Given the description of an element on the screen output the (x, y) to click on. 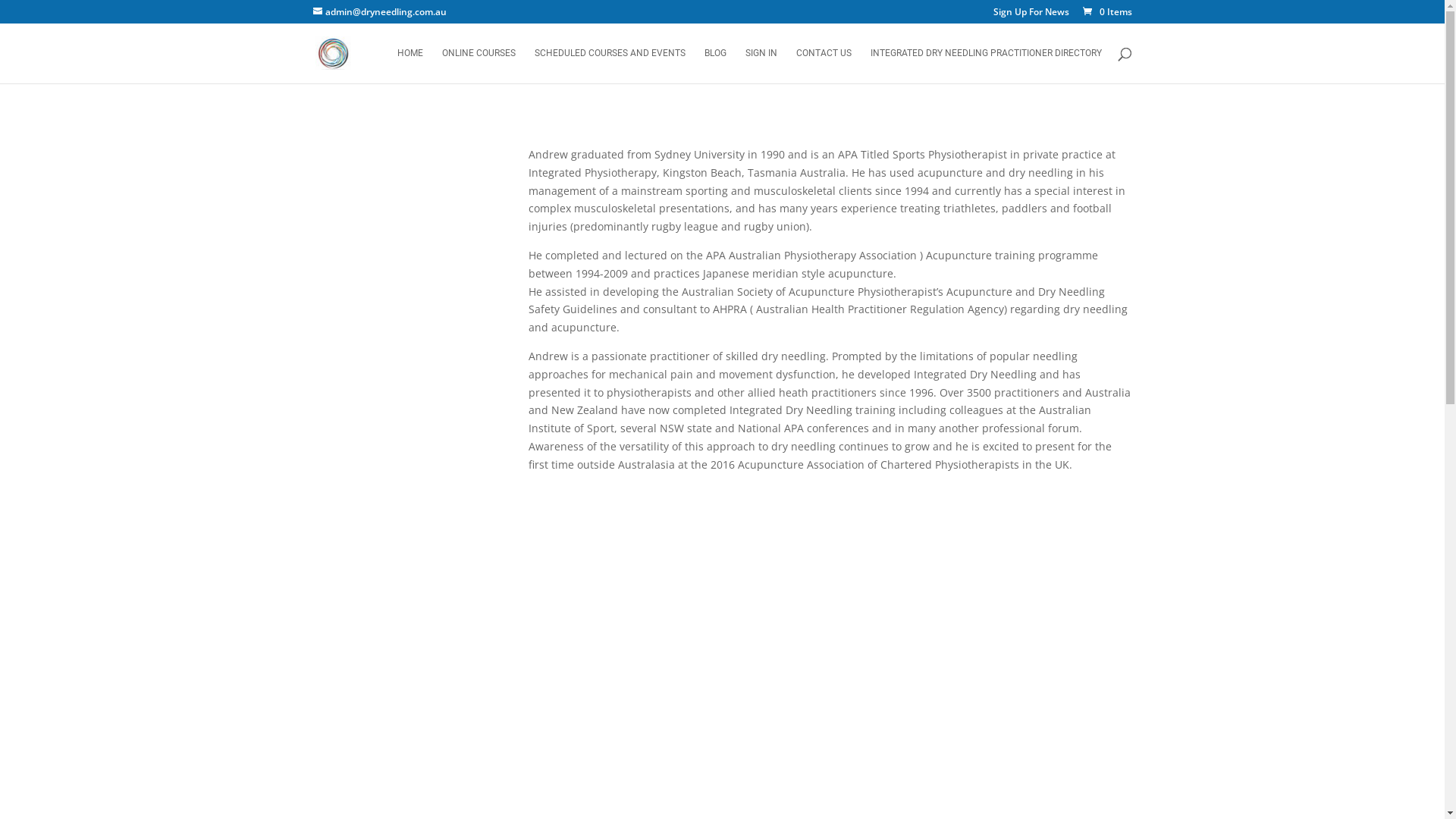
SCHEDULED COURSES AND EVENTS Element type: text (608, 65)
0 Items Element type: text (1105, 11)
Sign Up For News Element type: text (1031, 15)
CONTACT US Element type: text (823, 65)
BLOG Element type: text (714, 65)
SIGN IN Element type: text (760, 65)
admin@dryneedling.com.au Element type: text (378, 11)
INTEGRATED DRY NEEDLING PRACTITIONER DIRECTORY Element type: text (985, 65)
HOME Element type: text (410, 65)
ONLINE COURSES Element type: text (477, 65)
